Given the description of an element on the screen output the (x, y) to click on. 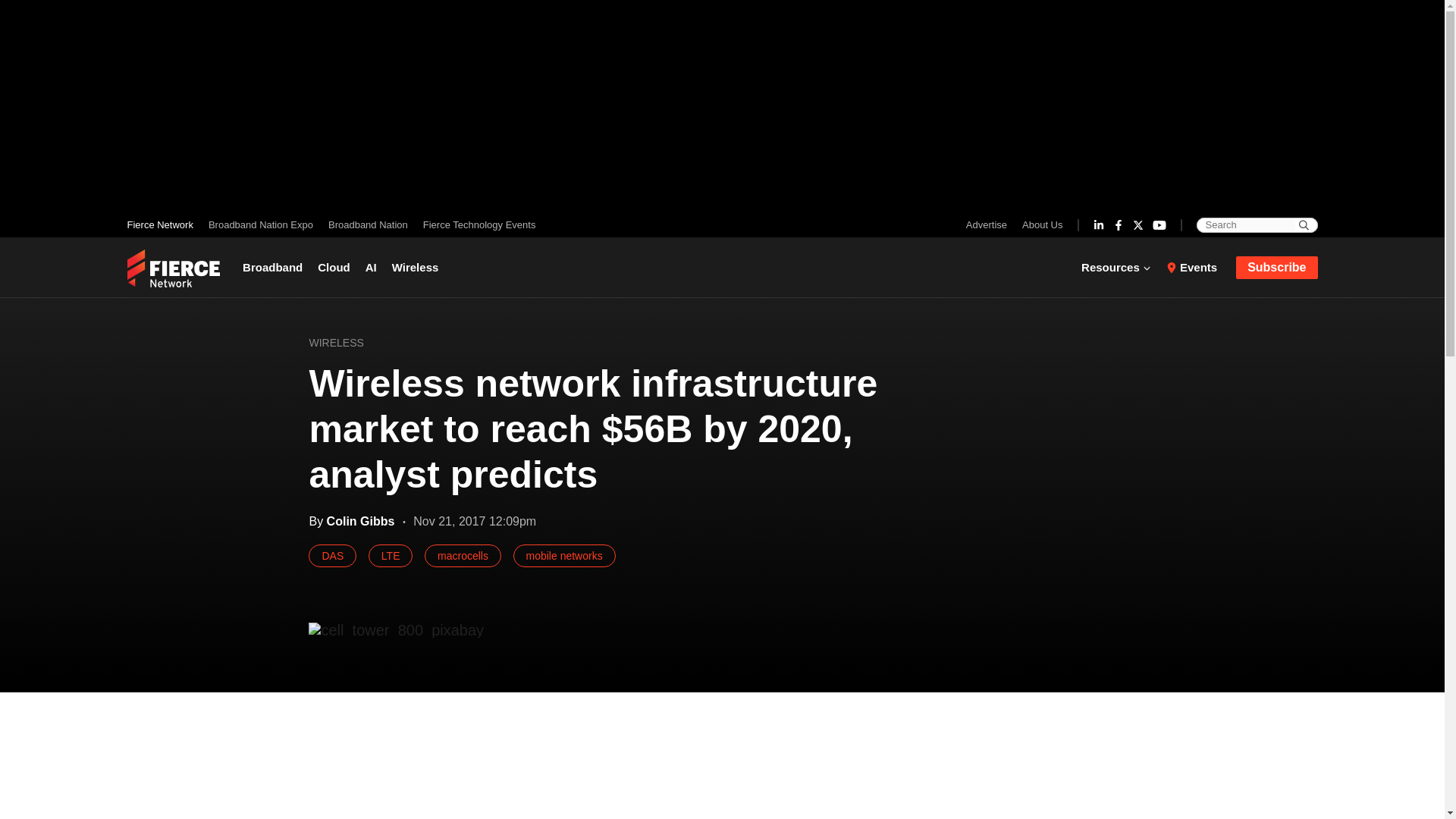
Broadband (276, 266)
Broadband Nation (367, 225)
About Us (1038, 225)
Broadband Nation Expo (260, 225)
Cloud (334, 266)
Subscribe (1276, 267)
Resources (1119, 266)
Fierce Network (164, 225)
Fierce Technology Events (474, 225)
Wireless (415, 266)
AI (371, 266)
Advertise (990, 225)
